Given the description of an element on the screen output the (x, y) to click on. 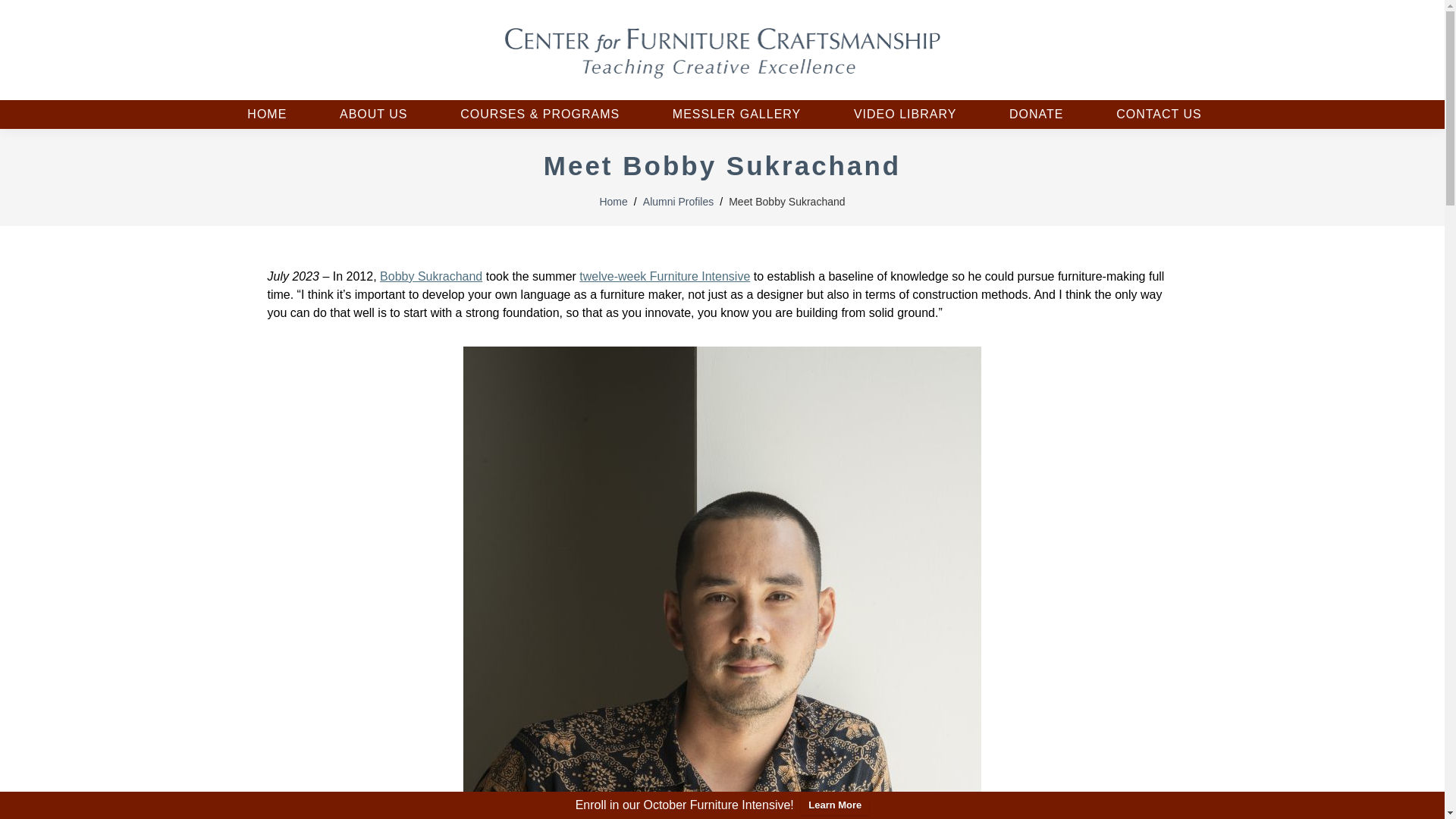
Home (612, 201)
HOME (263, 114)
ABOUT US (370, 114)
Alumni Profiles (678, 201)
